Given the description of an element on the screen output the (x, y) to click on. 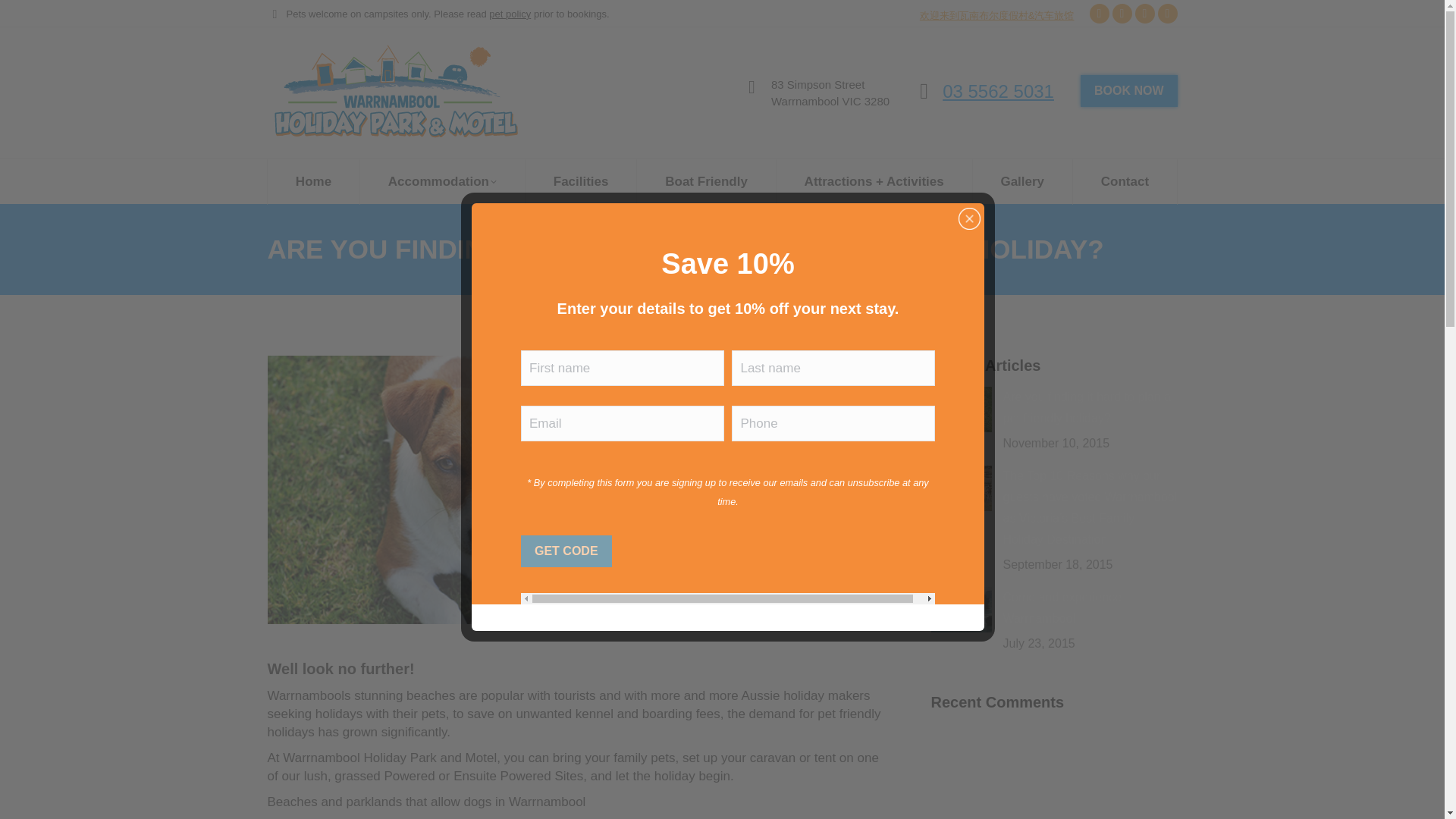
Facebook page opens in new window (1098, 13)
pet policy (510, 12)
Facilities (580, 180)
BOOK NOW (1128, 91)
Boat Friendly (706, 180)
Get code (566, 551)
Facebook page opens in new window (1098, 13)
Instagram page opens in new window (1144, 13)
YouTube page opens in new window (1121, 13)
YouTube page opens in new window (1121, 13)
TripAdvisor page opens in new window (1166, 13)
Instagram page opens in new window (1144, 13)
Home (312, 180)
03 5562 5031 (998, 90)
Accommodation (441, 180)
